Given the description of an element on the screen output the (x, y) to click on. 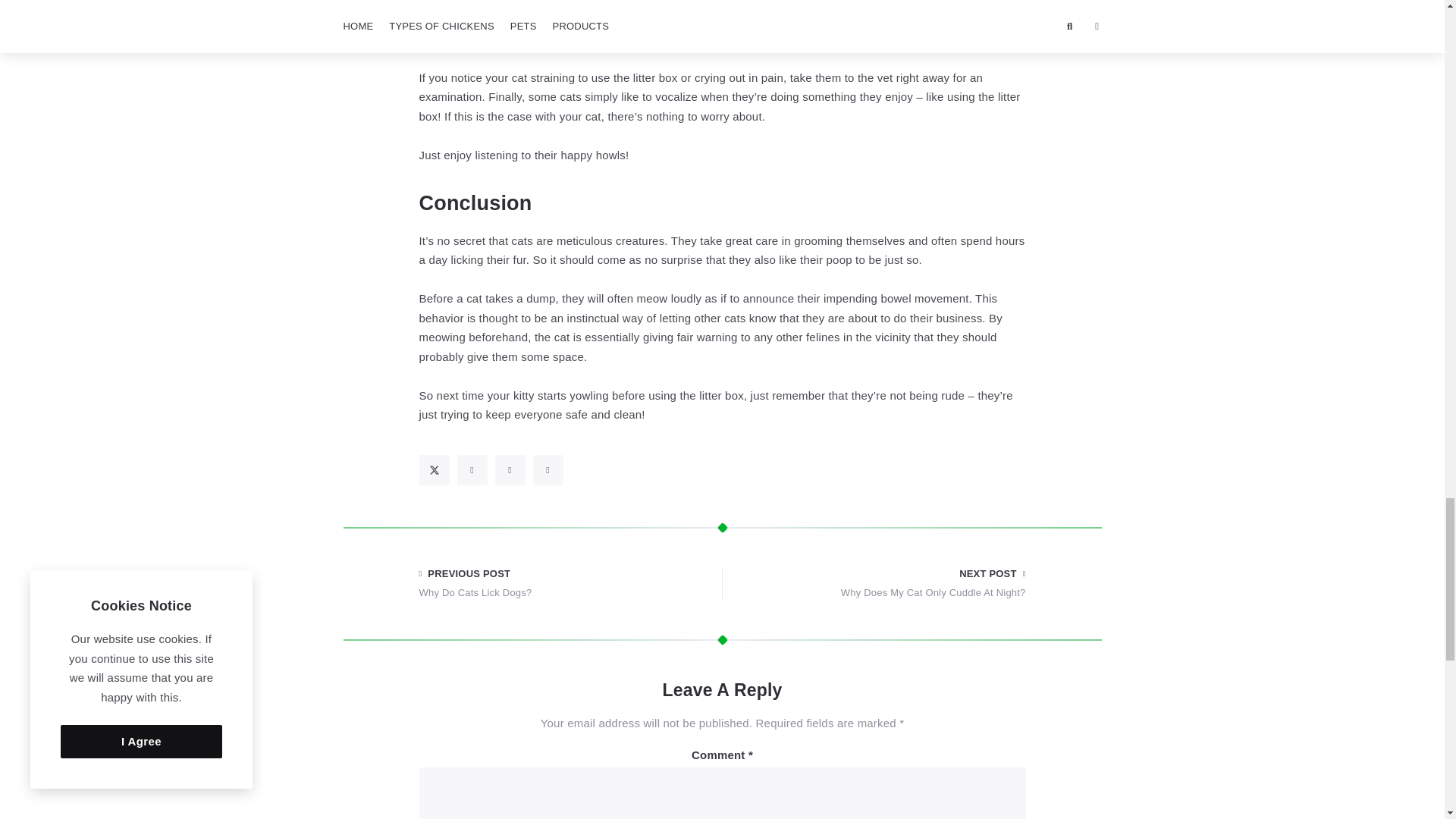
Share on Pinterest (509, 470)
Share on Twitter X (433, 470)
Share on Facebook (471, 470)
Share on Reddit (547, 470)
